Given the description of an element on the screen output the (x, y) to click on. 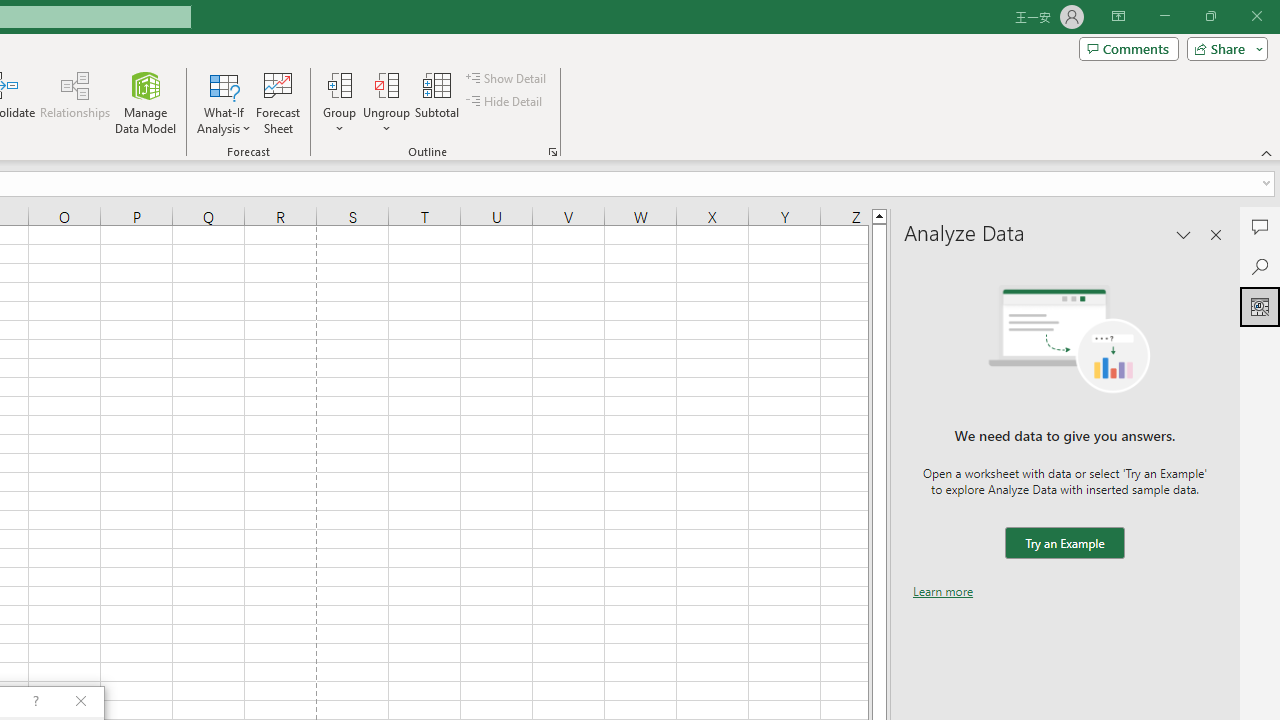
We need data to give you answers. Try an Example (1064, 543)
Group and Outline Settings (552, 151)
Learn more (943, 591)
What-If Analysis (223, 102)
Analyze Data (1260, 306)
Search (1260, 266)
Hide Detail (505, 101)
